Given the description of an element on the screen output the (x, y) to click on. 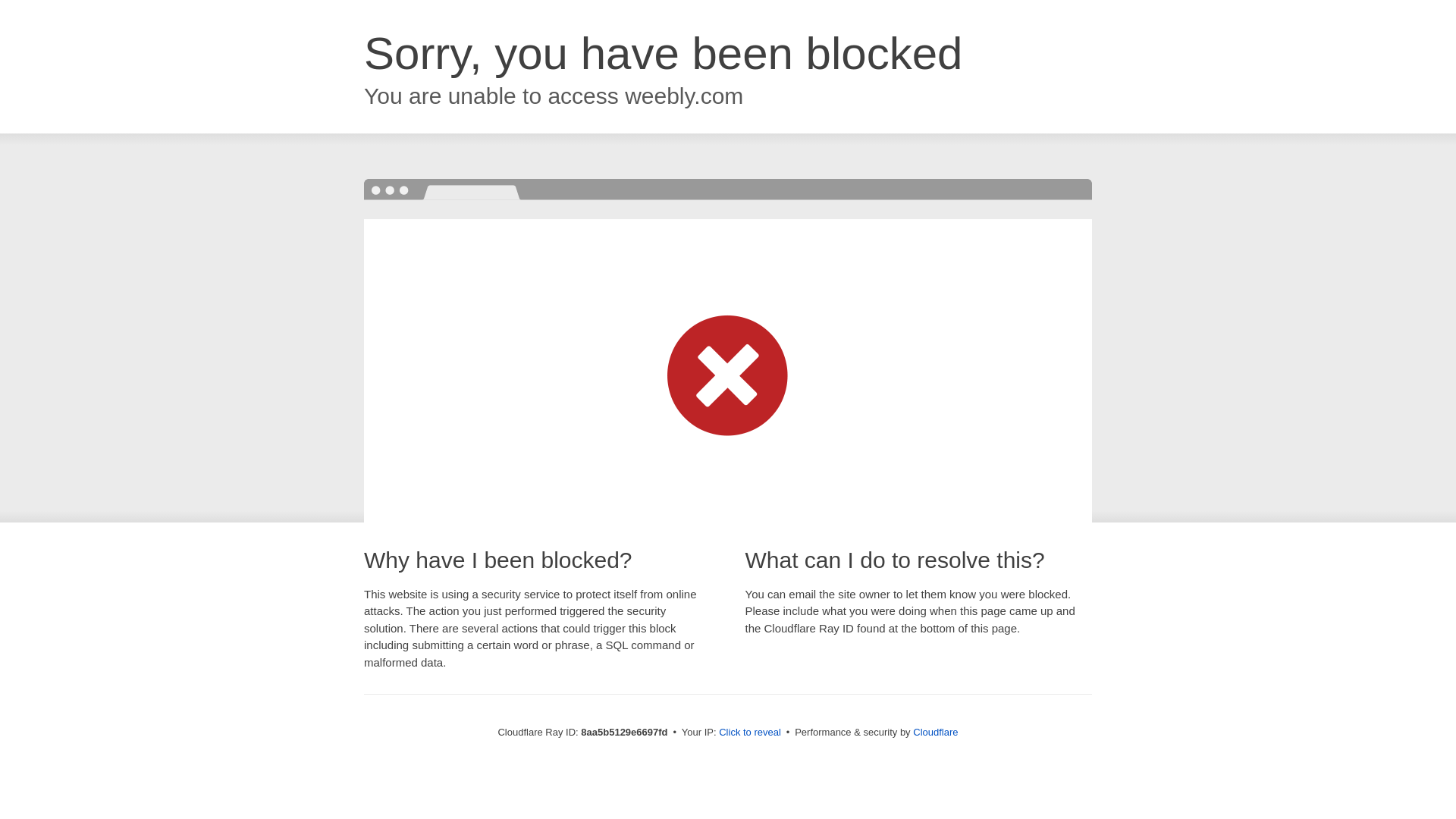
Cloudflare (935, 731)
Click to reveal (749, 732)
